Given the description of an element on the screen output the (x, y) to click on. 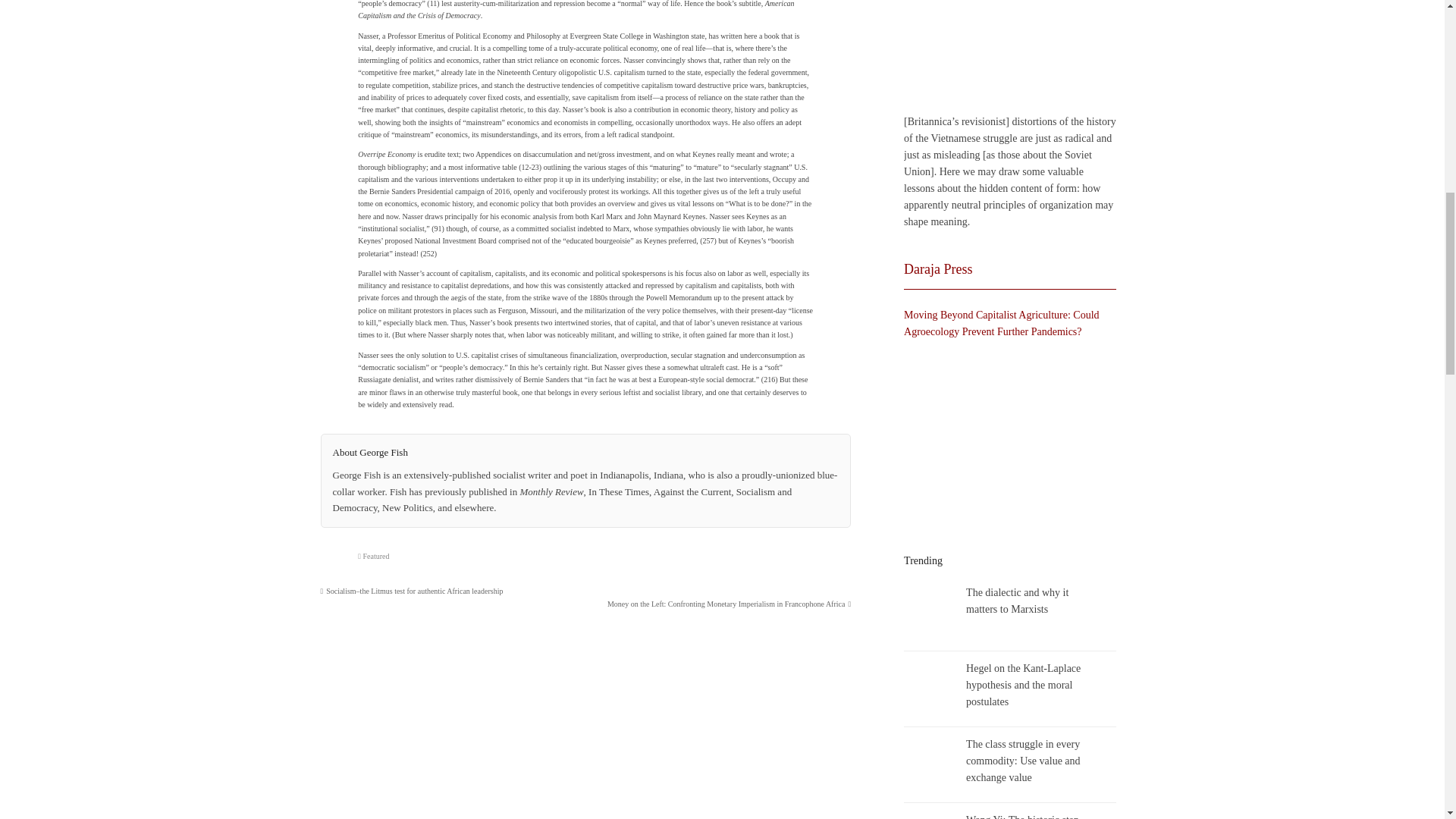
On The Rewriting of History (1006, 54)
